Given the description of an element on the screen output the (x, y) to click on. 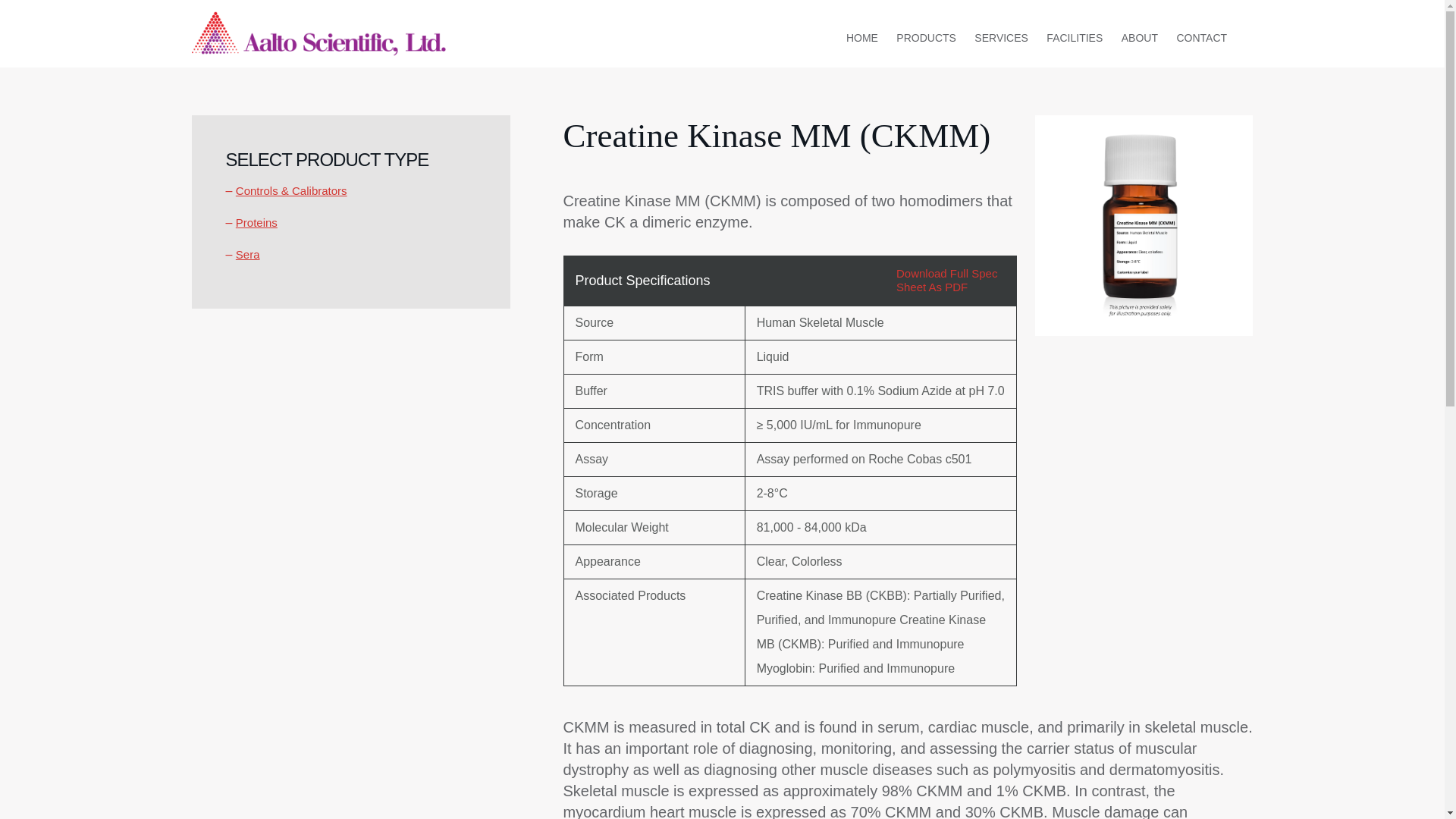
SERVICES (1000, 37)
Proteins (256, 222)
CONTACT (1201, 37)
ABOUT (1139, 37)
HOME (861, 37)
PRODUCTS (925, 37)
Download Full Spec Sheet As PDF (946, 279)
Sera (247, 254)
FACILITIES (1074, 37)
